Given the description of an element on the screen output the (x, y) to click on. 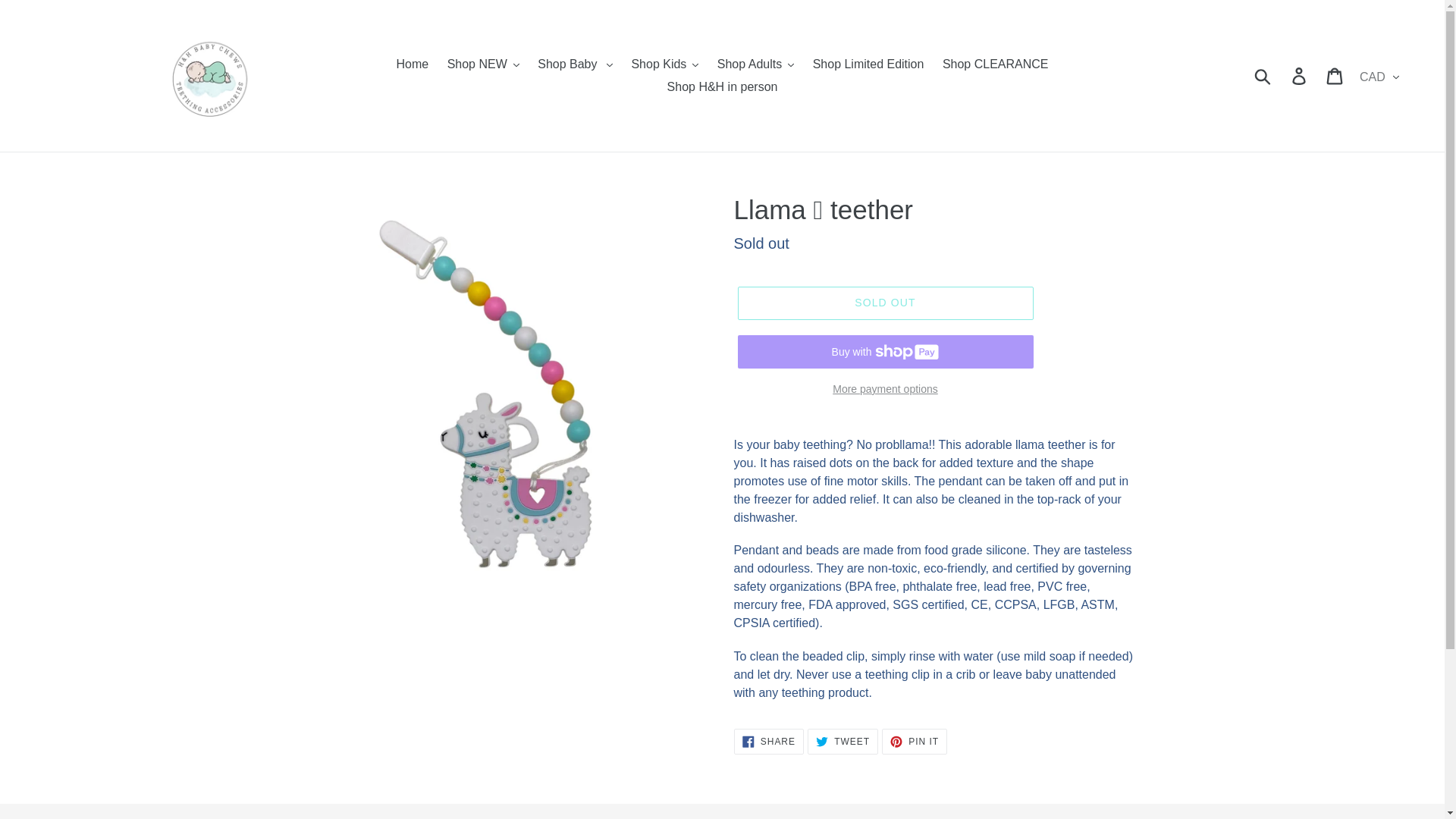
Shop CLEARANCE (995, 64)
Cart (1335, 75)
Shop Limited Edition (868, 64)
Home (411, 64)
Submit (1263, 75)
Log in (1299, 75)
